Given the description of an element on the screen output the (x, y) to click on. 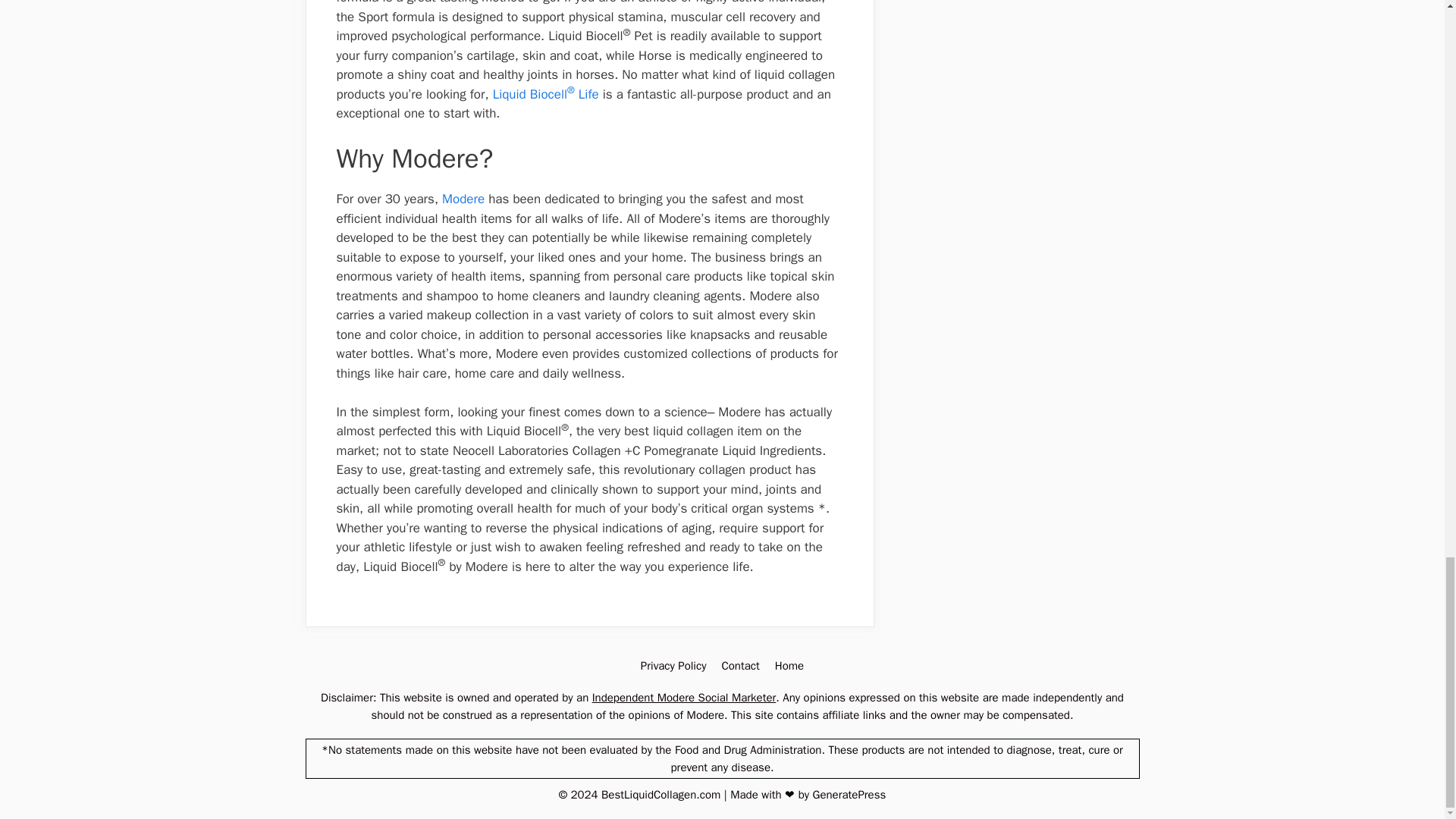
Independent Modere Social Marketer (684, 697)
Home (788, 665)
GeneratePress (849, 794)
Contact (739, 665)
Modere (463, 198)
Privacy Policy (673, 665)
